Given the description of an element on the screen output the (x, y) to click on. 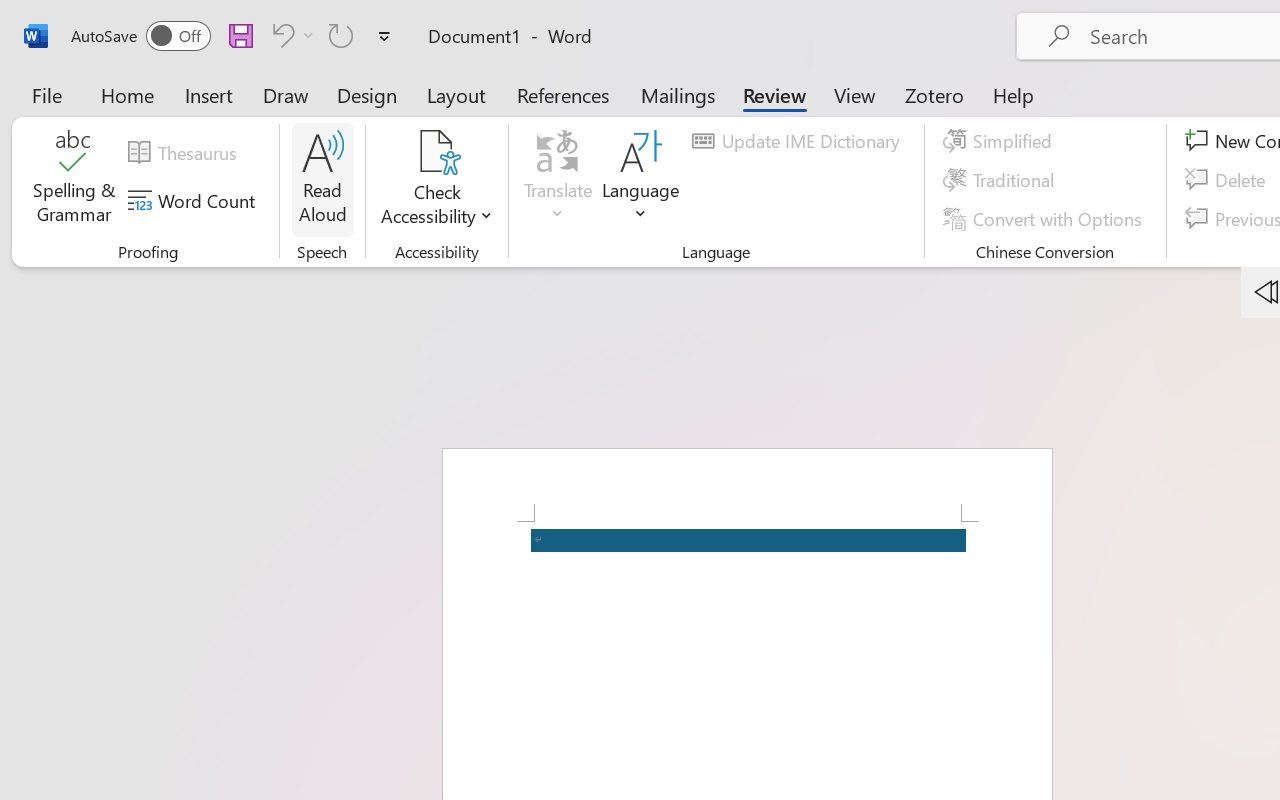
Check Accessibility (436, 179)
Traditional (1001, 179)
